Given the description of an element on the screen output the (x, y) to click on. 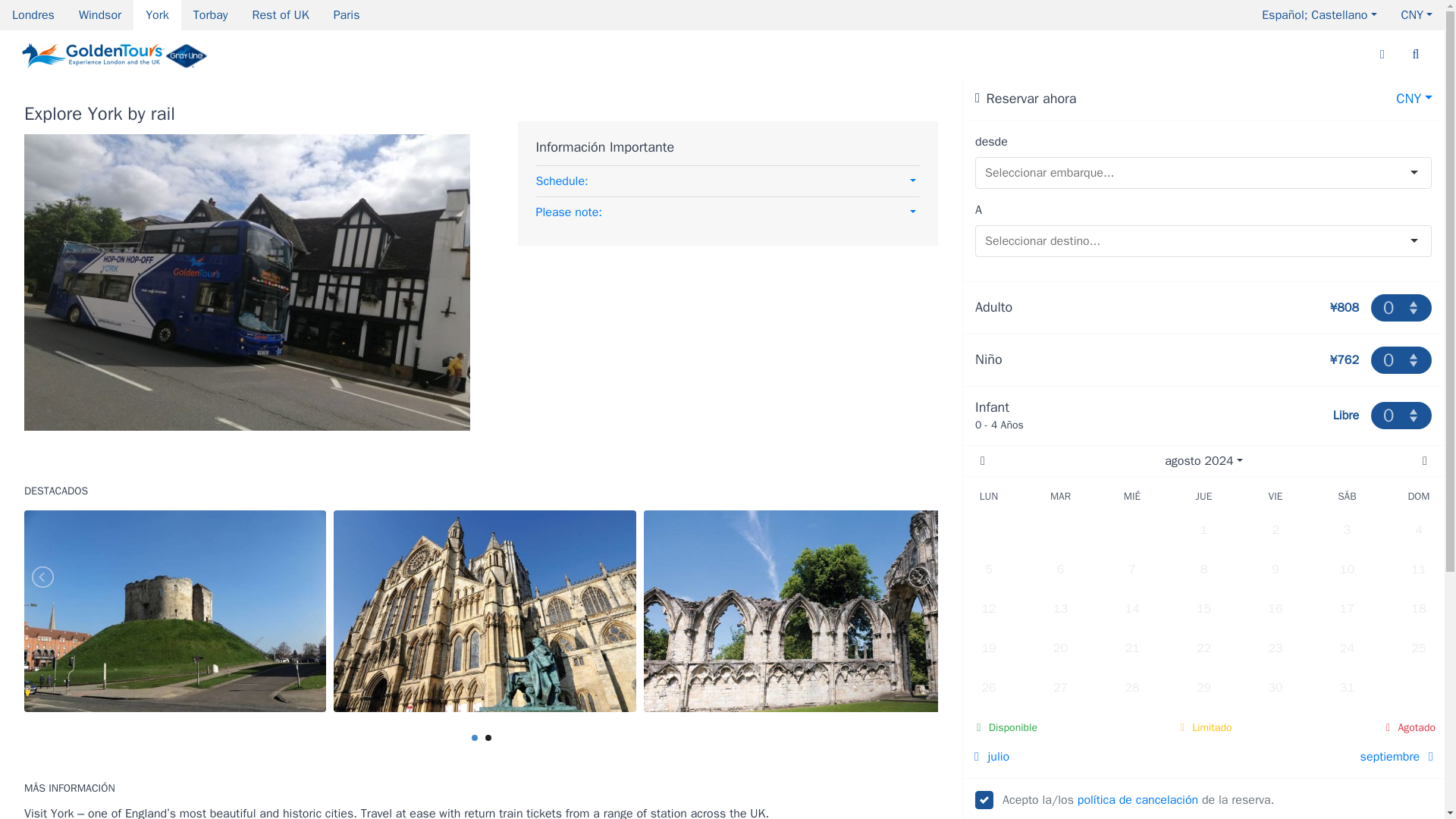
Windsor (99, 15)
York (156, 15)
Londres (33, 15)
